Given the description of an element on the screen output the (x, y) to click on. 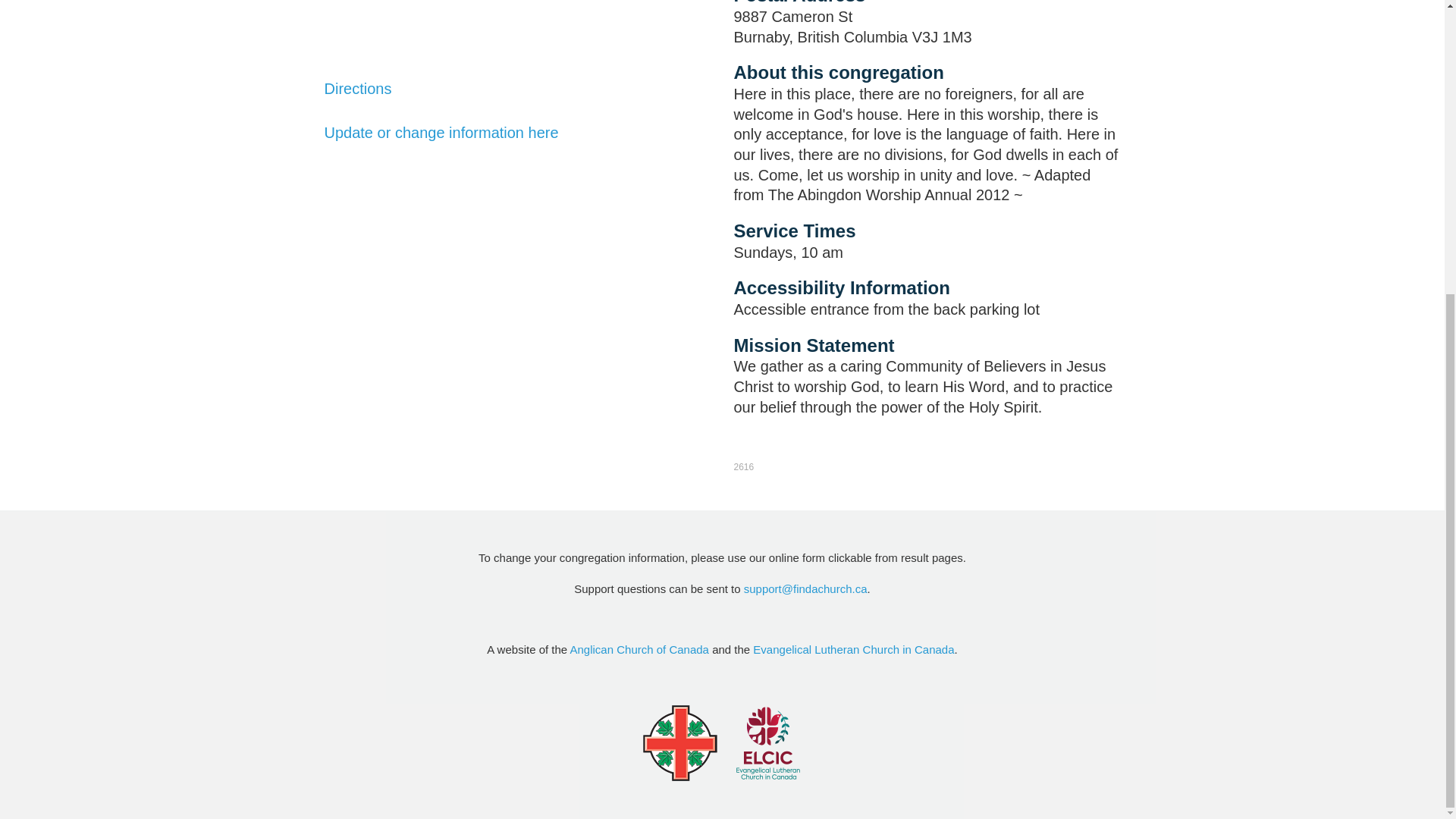
Directions (357, 88)
acc100 (679, 743)
Update or change information here (441, 132)
Anglican Church of Canada (639, 649)
Evangelical Lutheran Church in Canada (852, 649)
clcic2 (767, 743)
